Given the description of an element on the screen output the (x, y) to click on. 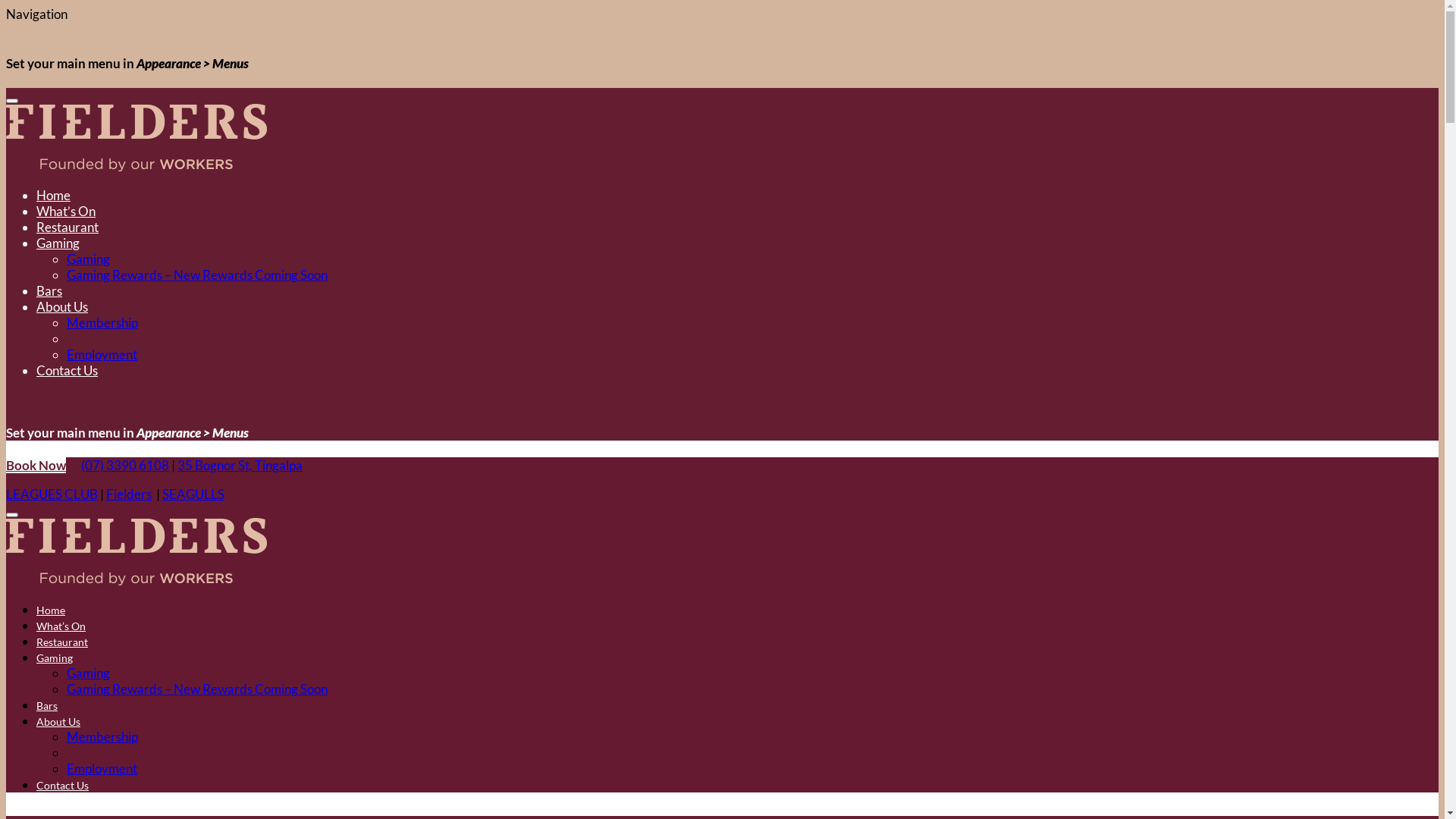
Contact Us Element type: text (66, 370)
Fielders Element type: text (128, 494)
Restaurant Element type: text (67, 227)
Gaming Element type: text (87, 672)
Book Now Element type: text (35, 465)
Home Element type: text (53, 195)
Employment Element type: text (101, 768)
Membership Element type: text (102, 322)
Courtesy Bus Element type: text (103, 338)
Bars Element type: text (46, 705)
(07) 3390 6108 Element type: text (125, 465)
Employment Element type: text (101, 354)
Home Element type: text (50, 609)
Contact Us Element type: text (62, 784)
About Us Element type: text (61, 306)
Membership Element type: text (102, 736)
35 Bognor St, Tingalpa Element type: text (239, 465)
Gaming Element type: text (57, 243)
Restaurant Element type: text (61, 641)
SEAGULLS Element type: text (193, 494)
Bars Element type: text (49, 290)
Gaming Element type: text (87, 258)
Gaming Element type: text (54, 657)
LEAGUES CLUB Element type: text (51, 494)
Courtesy Bus Element type: text (103, 752)
About Us Element type: text (58, 721)
